Given the description of an element on the screen output the (x, y) to click on. 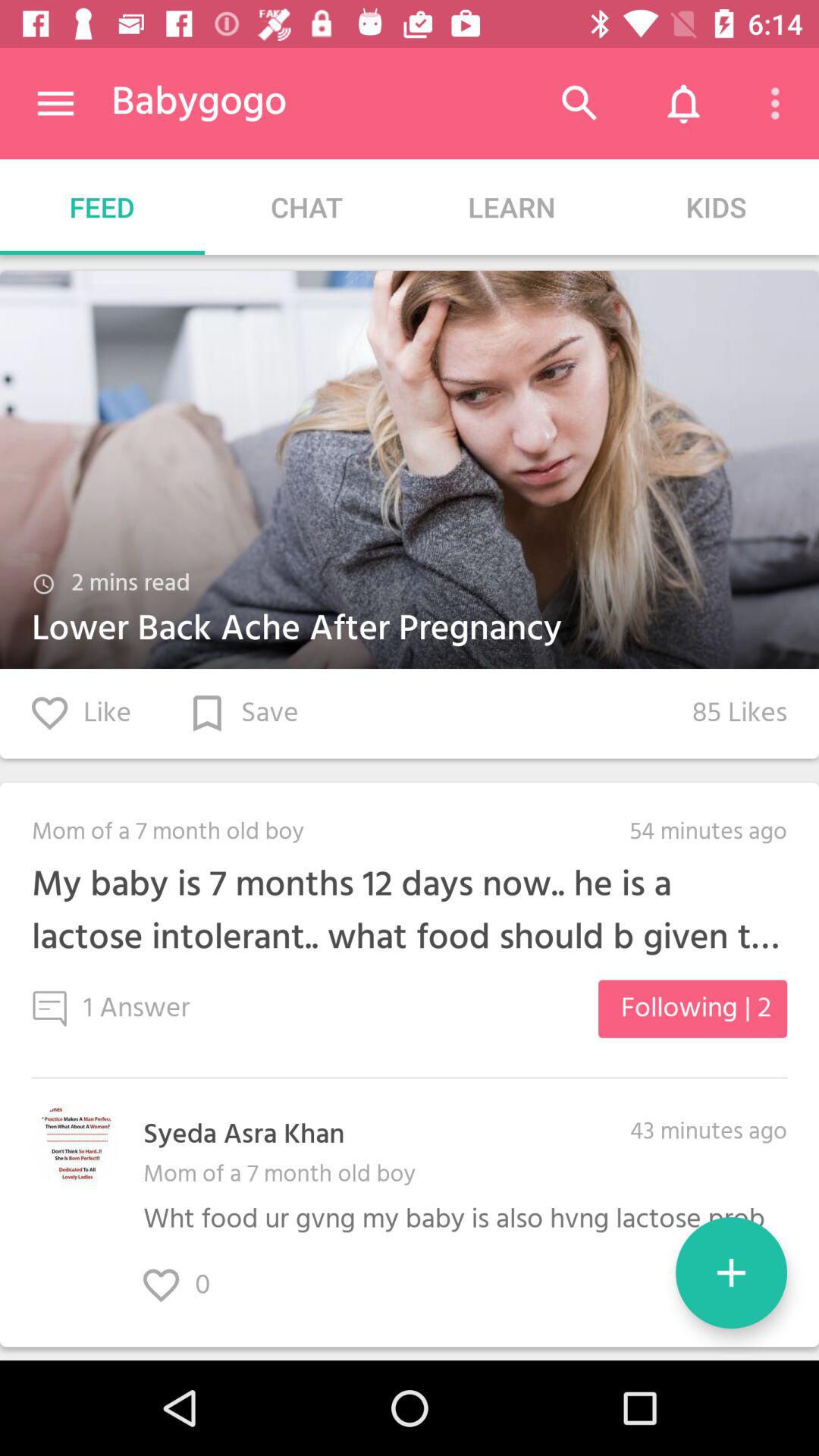
open icon to the left of the 85 likes icon (244, 713)
